Given the description of an element on the screen output the (x, y) to click on. 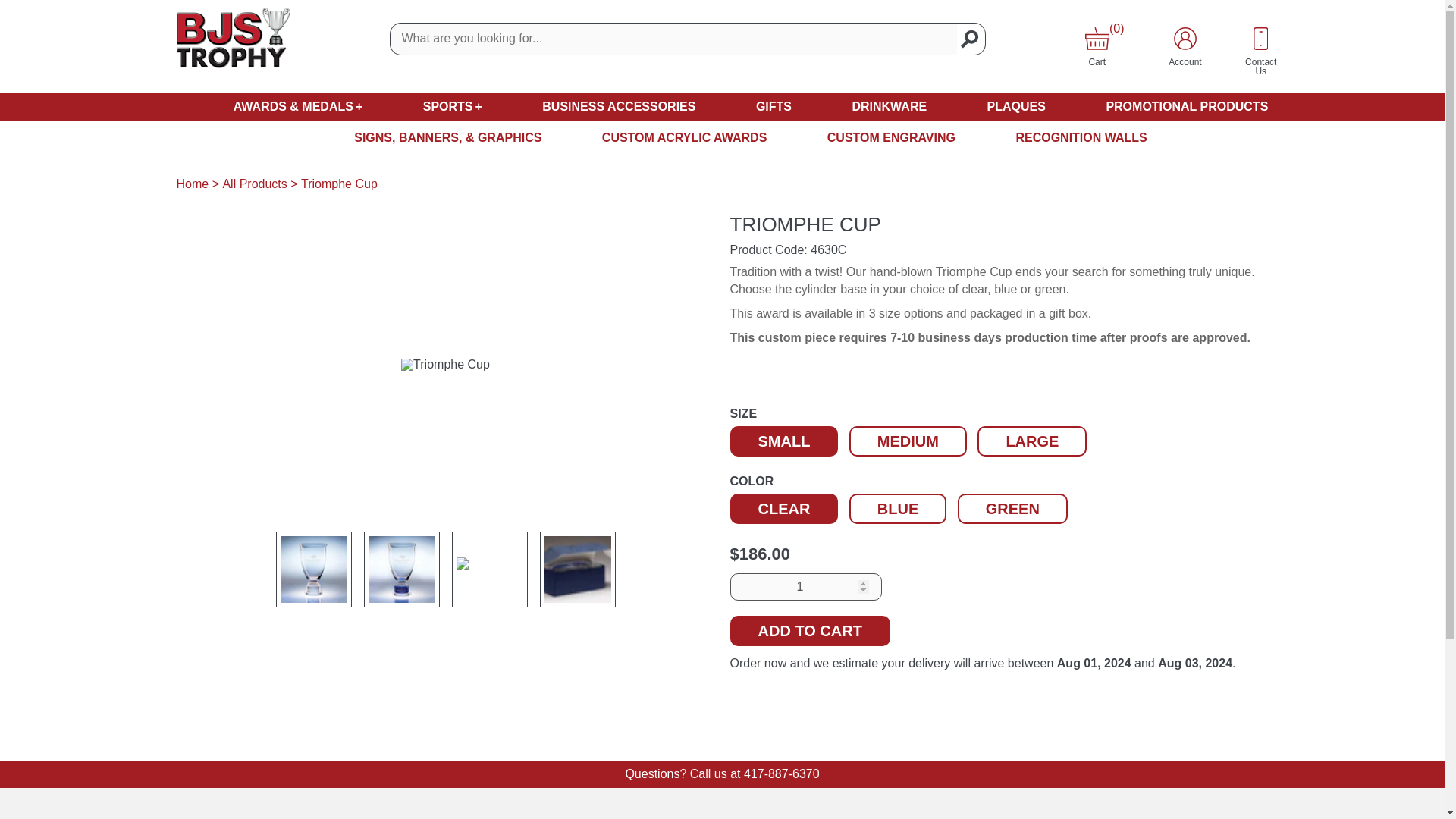
Contact Us (1260, 38)
tel:417-887-6370 (781, 773)
Account (1184, 38)
1 (804, 586)
SPORTS (452, 106)
